Given the description of an element on the screen output the (x, y) to click on. 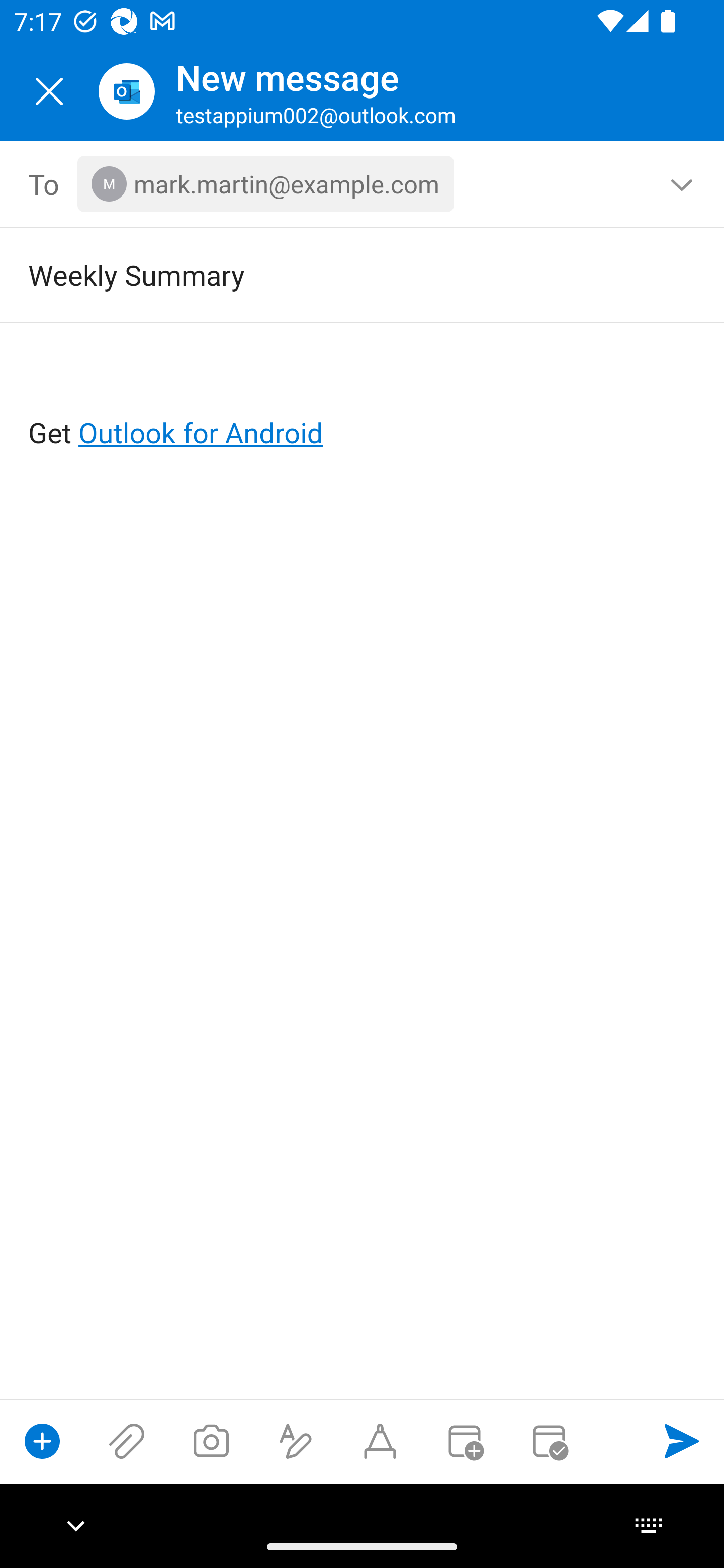
Close (49, 91)
To, 1 recipient <mark.martin@example.com> (362, 184)
Weekly Summary (333, 274)


Get Outlook for Android (363, 400)
Show compose options (42, 1440)
Attach files (126, 1440)
Take a photo (210, 1440)
Show formatting options (295, 1440)
Start Ink compose (380, 1440)
Convert to event (464, 1440)
Send availability (548, 1440)
Send (681, 1440)
